Given the description of an element on the screen output the (x, y) to click on. 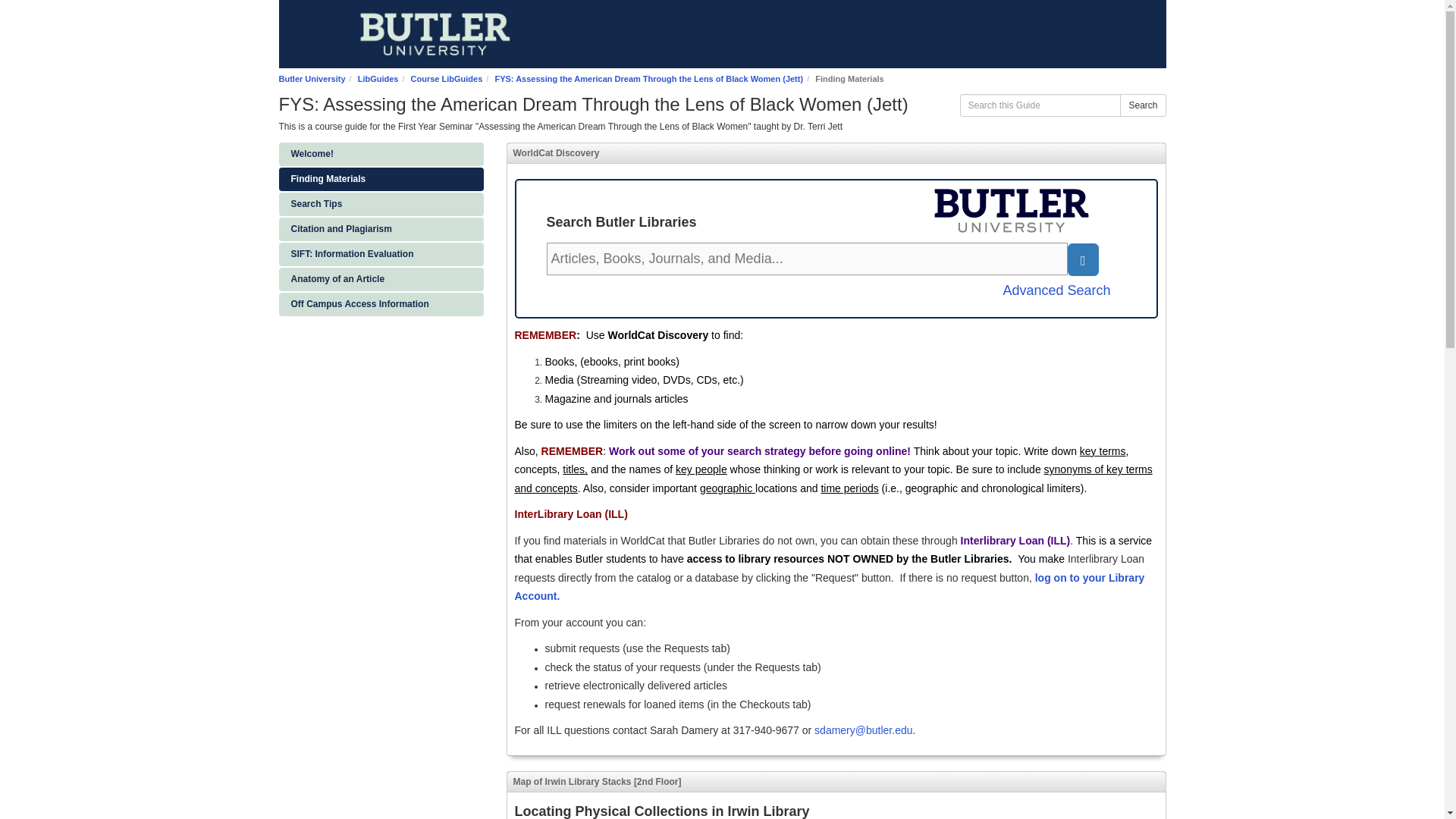
SIFT: Information Evaluation (381, 254)
Course LibGuides (446, 78)
Finding Materials (381, 178)
Search (1142, 105)
log on to your Library Account. (828, 586)
Search Query (806, 259)
Welcome! (381, 154)
LibGuides (378, 78)
Anatomy of an Article (381, 279)
Off Campus Access Information (381, 304)
Advanced Search (1056, 291)
Citation and Plagiarism (381, 228)
Butler University (312, 78)
Search Tips (381, 204)
